Given the description of an element on the screen output the (x, y) to click on. 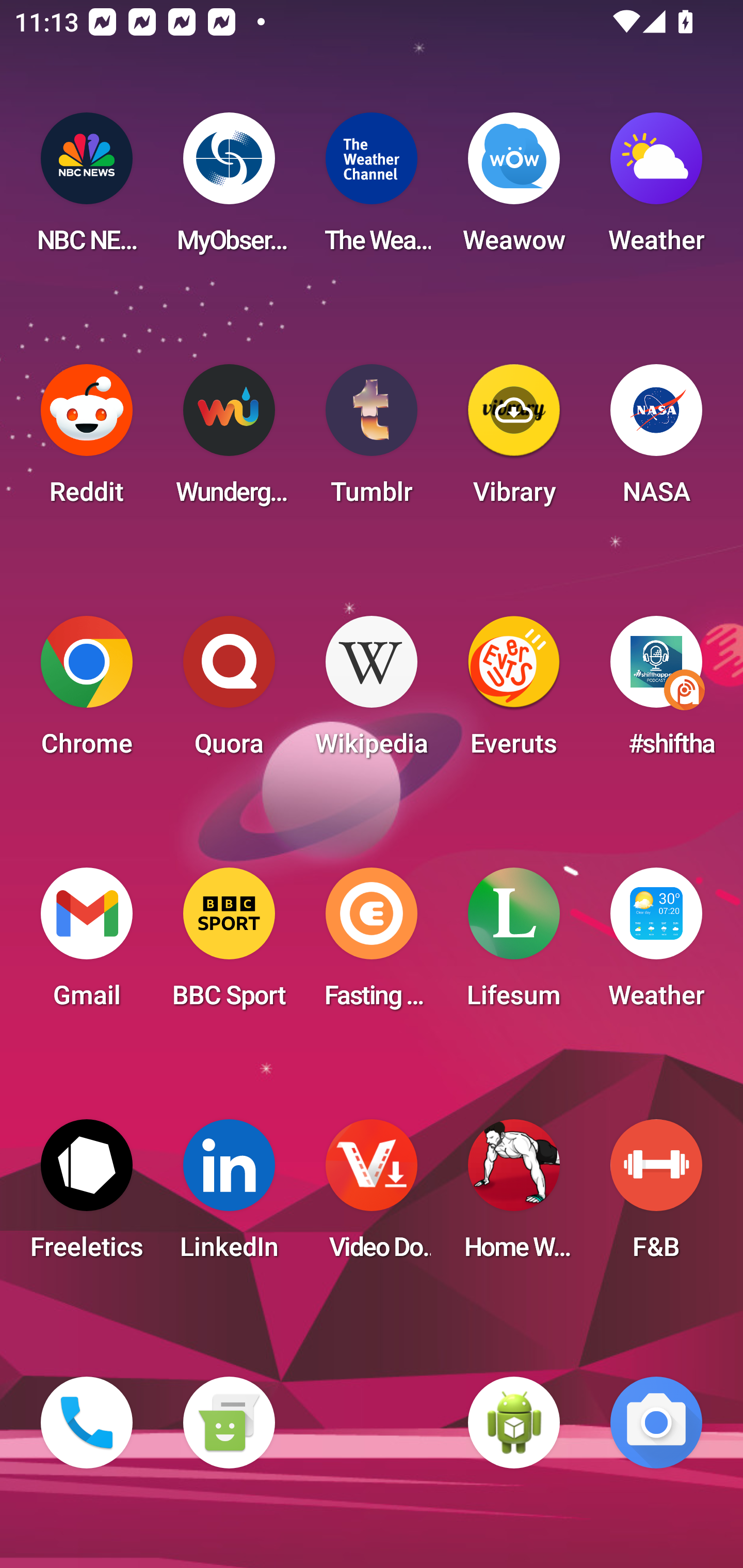
NBC NEWS (86, 188)
MyObservatory (228, 188)
The Weather Channel (371, 188)
Weawow (513, 188)
Weather (656, 188)
Reddit (86, 440)
Wunderground (228, 440)
Tumblr (371, 440)
Vibrary (513, 440)
NASA (656, 440)
Chrome (86, 692)
Quora (228, 692)
Wikipedia (371, 692)
Everuts (513, 692)
#shifthappens in the Digital Workplace Podcast (656, 692)
Gmail (86, 943)
BBC Sport (228, 943)
Fasting Coach (371, 943)
Lifesum (513, 943)
Weather (656, 943)
Freeletics (86, 1195)
LinkedIn (228, 1195)
Video Downloader & Ace Player (371, 1195)
Home Workout (513, 1195)
F&B (656, 1195)
Phone (86, 1422)
Messaging (228, 1422)
WebView Browser Tester (513, 1422)
Camera (656, 1422)
